Given the description of an element on the screen output the (x, y) to click on. 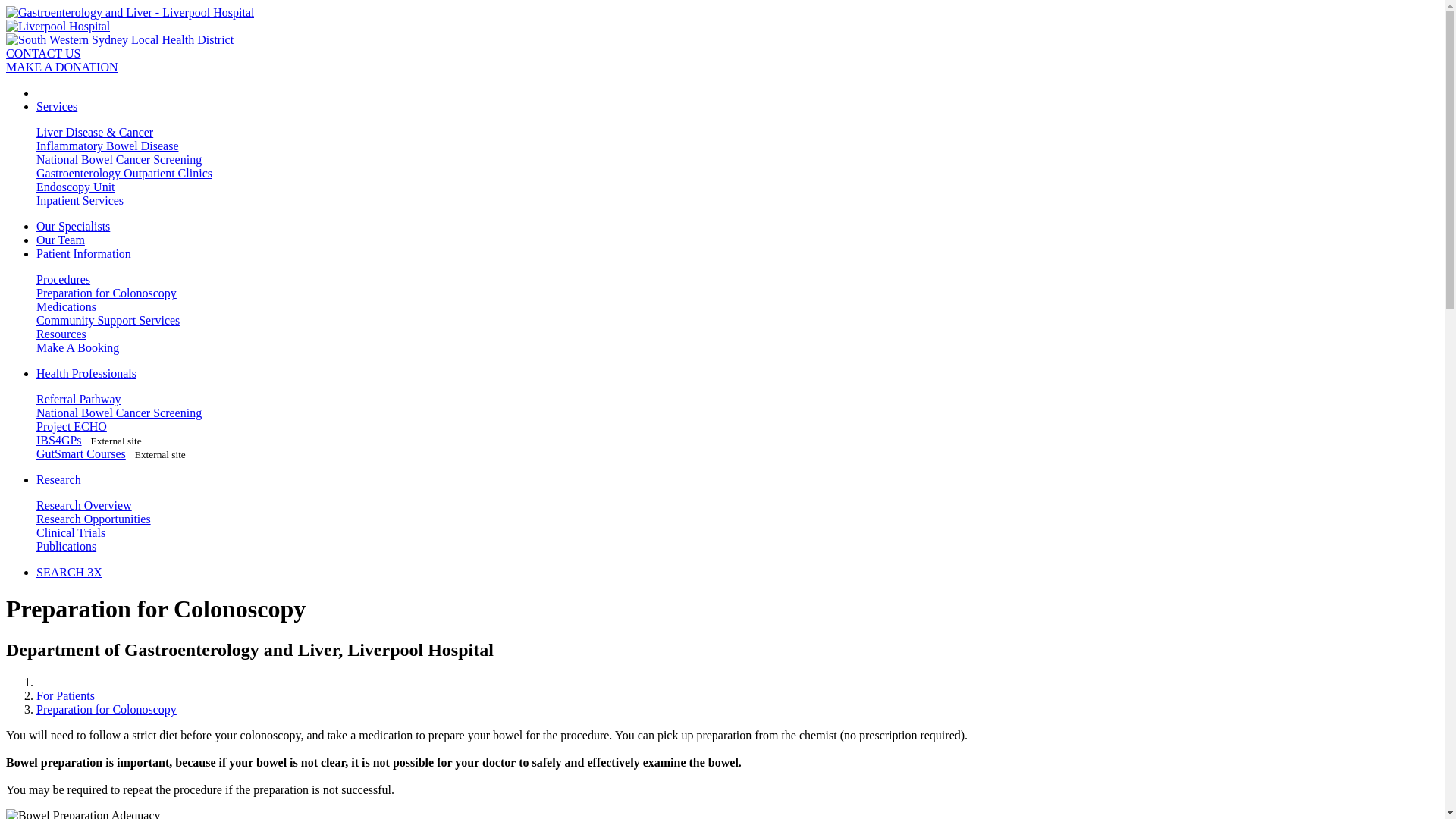
Clinical Trials Element type: text (70, 532)
Community Support Services Element type: text (107, 319)
Make A Booking Element type: text (77, 347)
Project ECHO Element type: text (71, 426)
Gastroenterology Outpatient Clinics Element type: text (124, 172)
Resources Element type: text (61, 333)
SEARCH 3X Element type: text (69, 571)
Research Opportunities Element type: text (93, 518)
Research Overview Element type: text (83, 504)
Medications Element type: text (66, 306)
Preparation for Colonoscopy Element type: text (106, 292)
Endoscopy Unit Element type: text (75, 186)
Preparation for Colonoscopy Element type: text (106, 708)
Health Professionals Element type: text (86, 373)
Referral Pathway Element type: text (78, 398)
Services Element type: text (56, 106)
Our Specialists Element type: text (72, 225)
Research Element type: text (58, 479)
Procedures Element type: text (63, 279)
MAKE A DONATION Element type: text (62, 66)
Inpatient Services Element type: text (79, 200)
For Patients Element type: text (65, 695)
National Bowel Cancer Screening Element type: text (118, 412)
Our Team Element type: text (60, 239)
CONTACT US Element type: text (43, 53)
Publications Element type: text (66, 545)
Inflammatory Bowel Disease Element type: text (107, 145)
National Bowel Cancer Screening Element type: text (118, 159)
Liver Disease & Cancer Element type: text (94, 131)
Patient Information Element type: text (83, 253)
GutSmart Courses Element type: text (80, 453)
IBS4GPs Element type: text (58, 439)
